Given the description of an element on the screen output the (x, y) to click on. 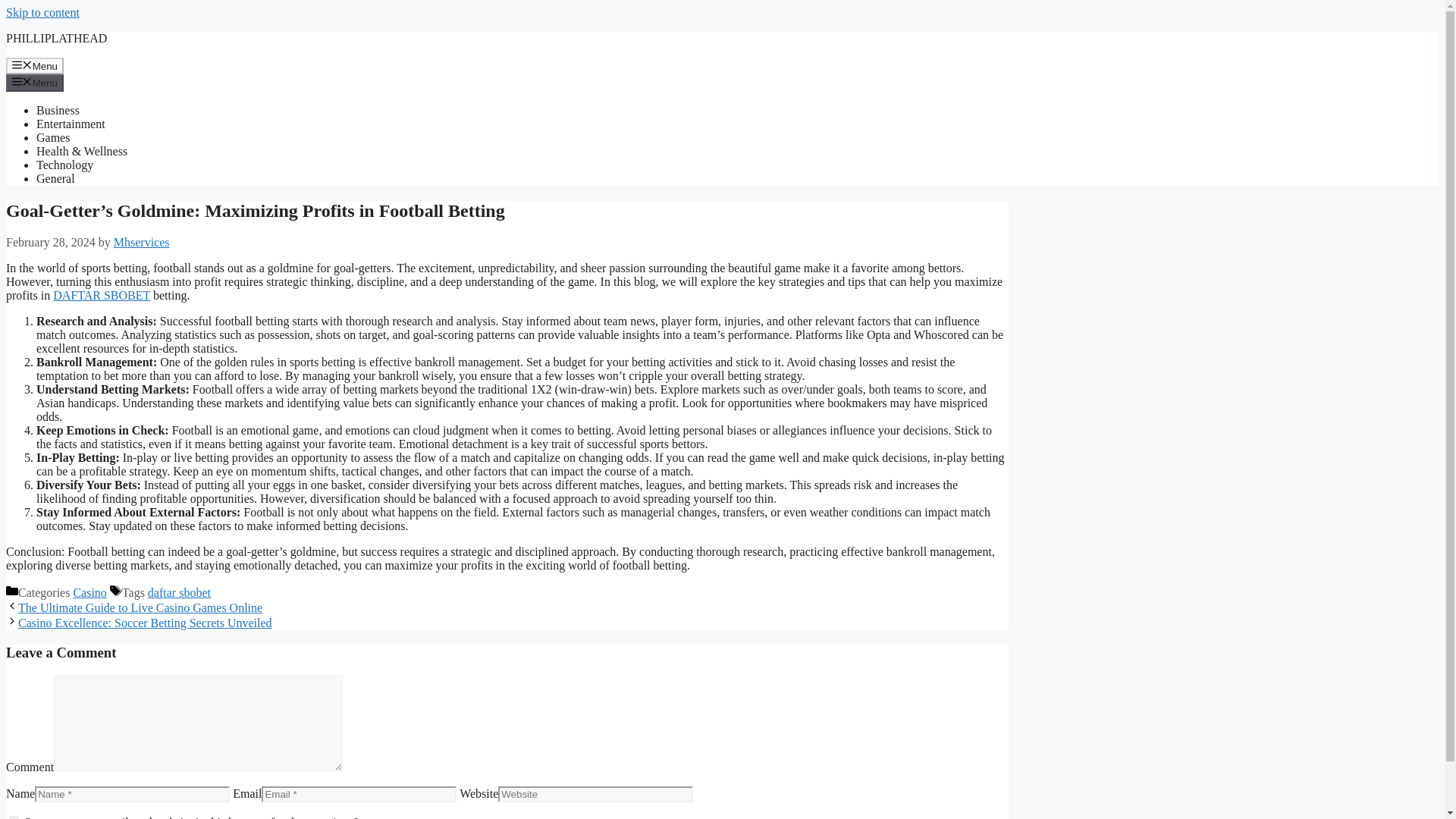
View all posts by Mhservices (141, 241)
Technology (64, 164)
Menu (34, 65)
Business (58, 110)
Skip to content (42, 11)
Menu (34, 82)
Entertainment (70, 123)
DAFTAR SBOBET (100, 295)
Casino Excellence: Soccer Betting Secrets Unveiled (144, 622)
The Ultimate Guide to Live Casino Games Online (139, 607)
